Given the description of an element on the screen output the (x, y) to click on. 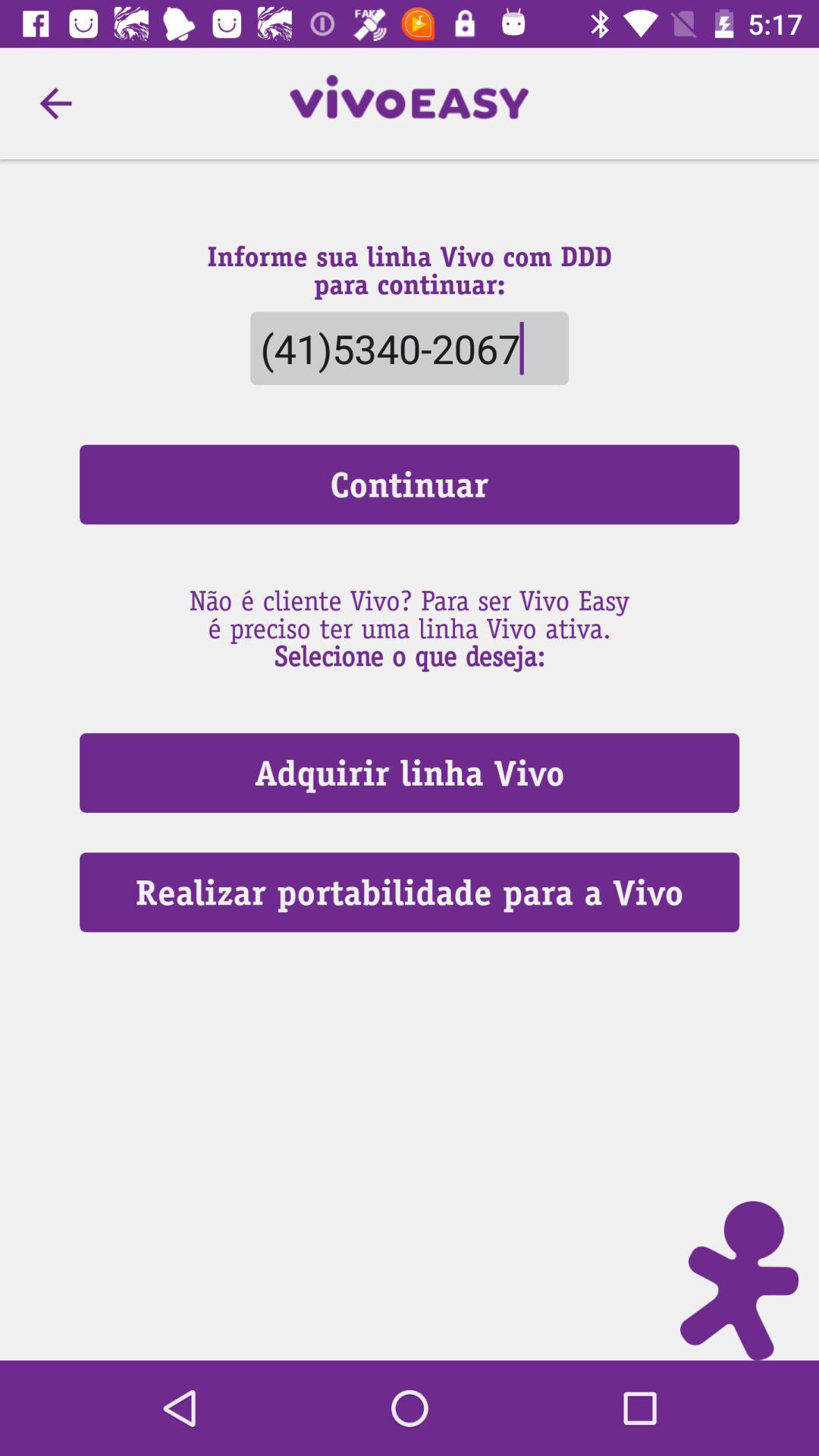
swipe until the adquirir linha vivo icon (409, 772)
